Given the description of an element on the screen output the (x, y) to click on. 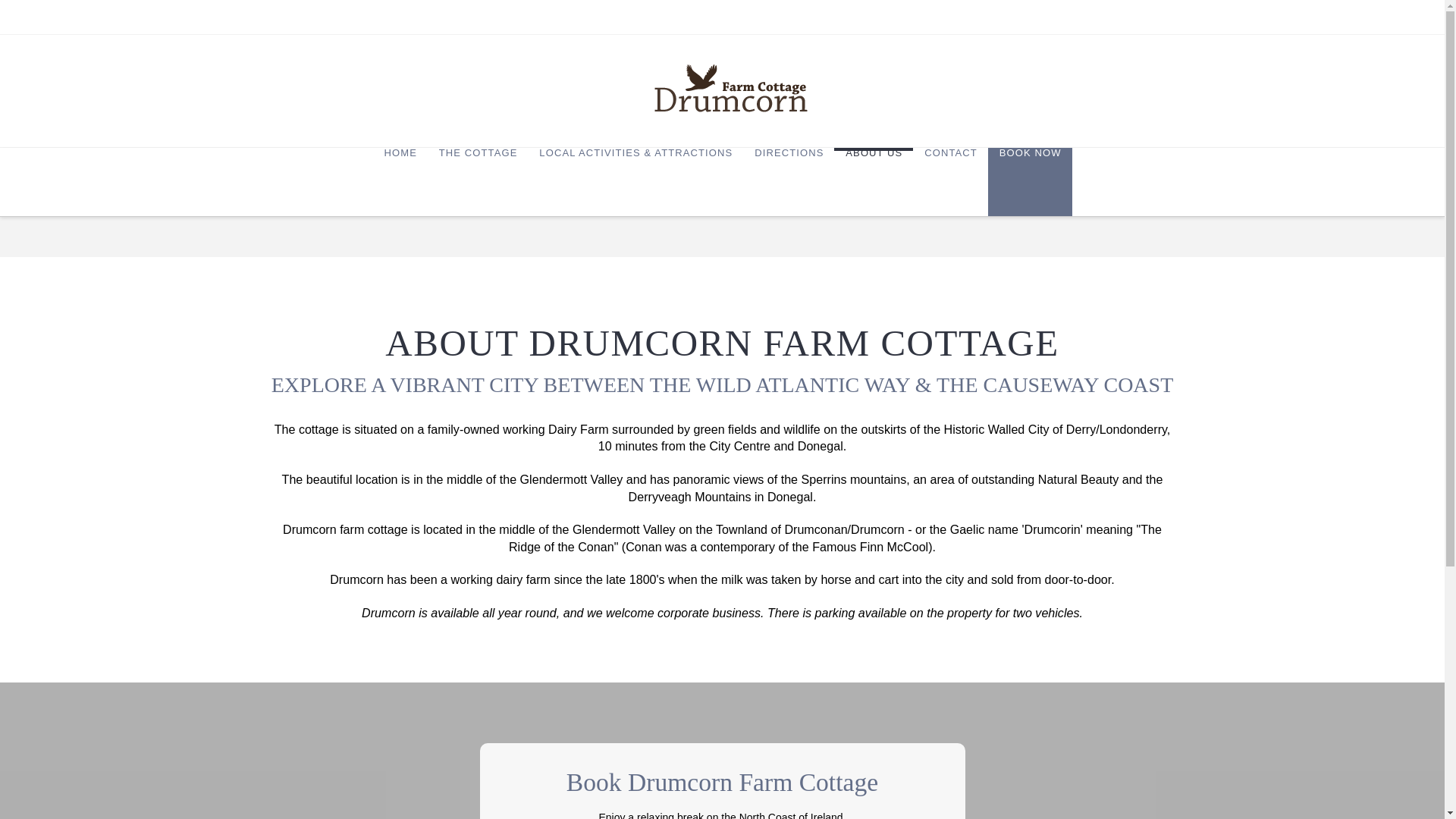
ABOUT US (873, 182)
BOOK NOW (1029, 182)
CONTACT (950, 182)
DIRECTIONS (788, 182)
THE COTTAGE (478, 182)
